Given the description of an element on the screen output the (x, y) to click on. 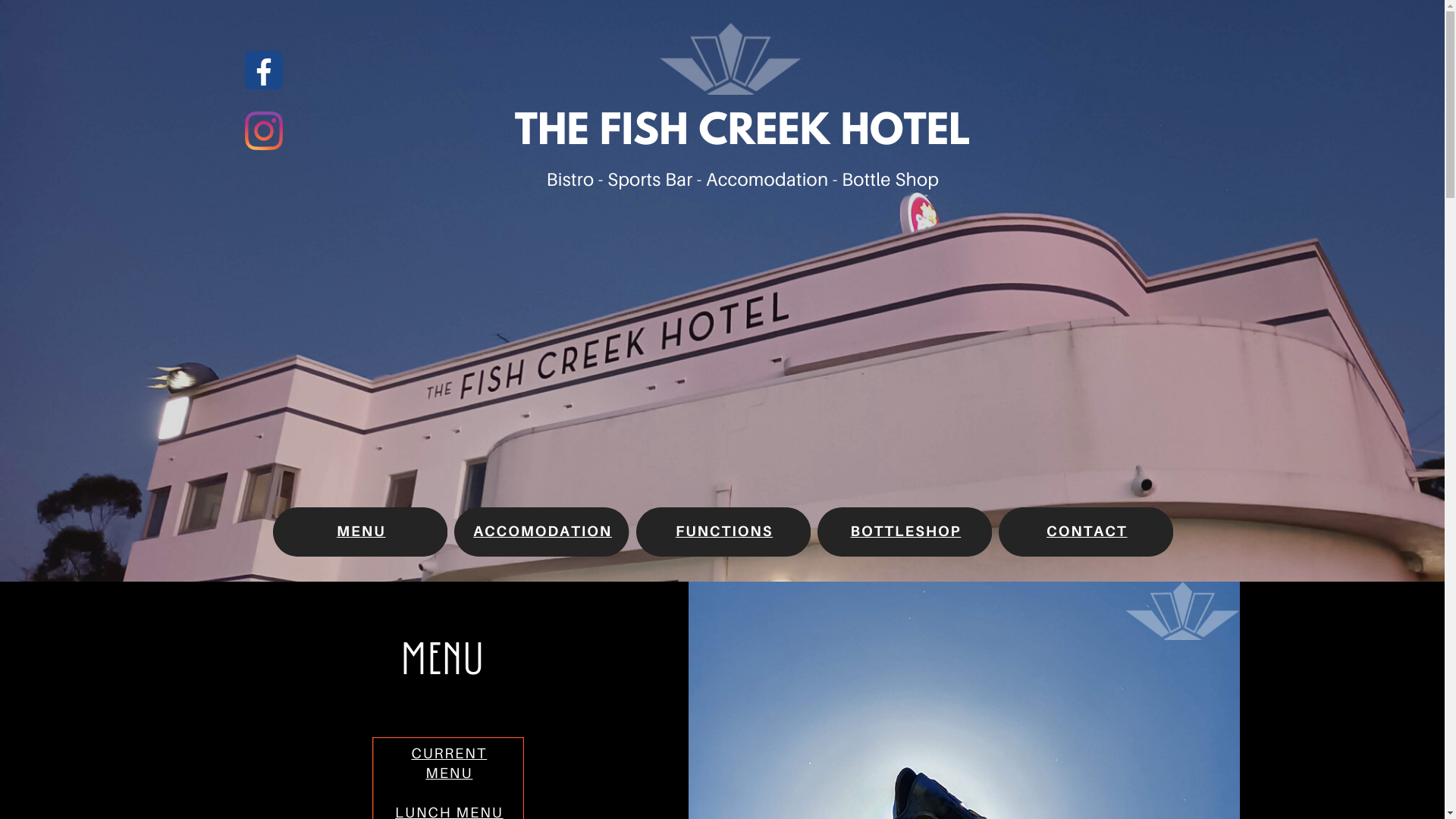
MENU Element type: text (360, 530)
CONTACT Element type: text (1086, 530)
BOTTLESHOP Element type: text (905, 530)
ACCOMODATION Element type: text (542, 530)
FUNCTIONS Element type: text (723, 530)
CURRENT MENU Element type: text (448, 762)
